Given the description of an element on the screen output the (x, y) to click on. 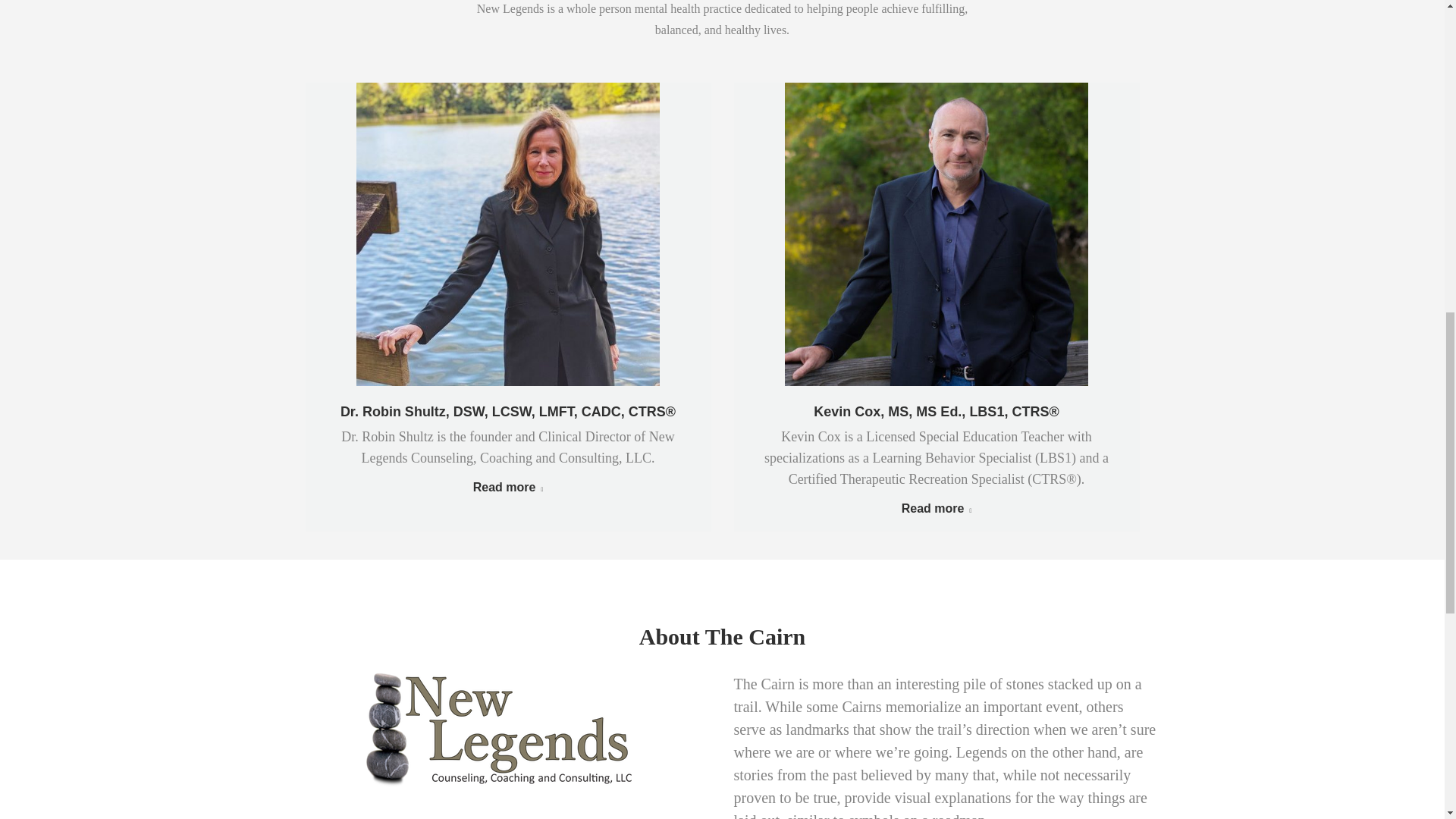
logo-350w (497, 729)
robin-retouch copy (507, 233)
Kevin Profile Herrick Zoomed (935, 233)
